Given the description of an element on the screen output the (x, y) to click on. 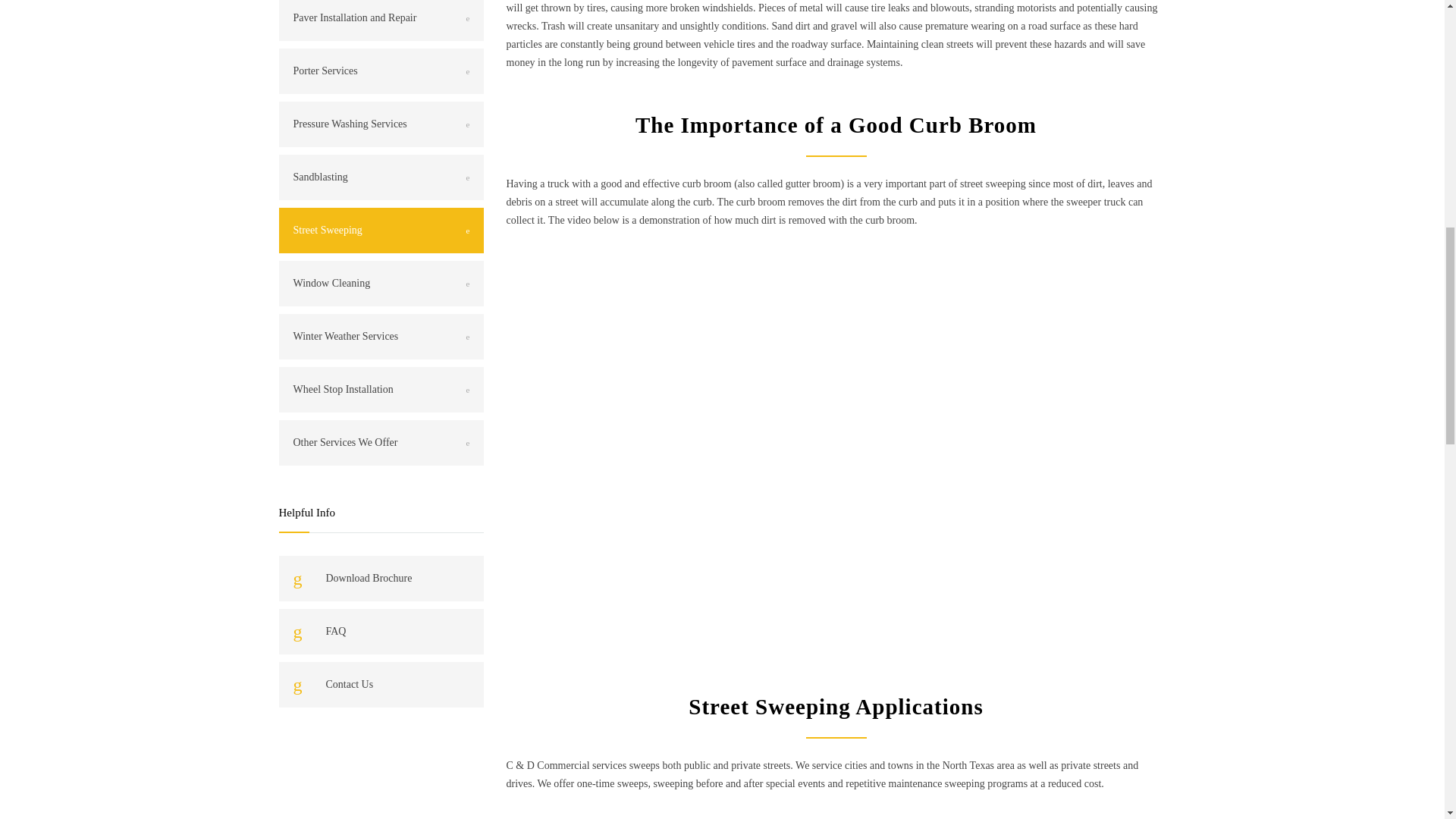
Download Brochure (381, 578)
Contact Us (381, 684)
FAQ (381, 631)
